Given the description of an element on the screen output the (x, y) to click on. 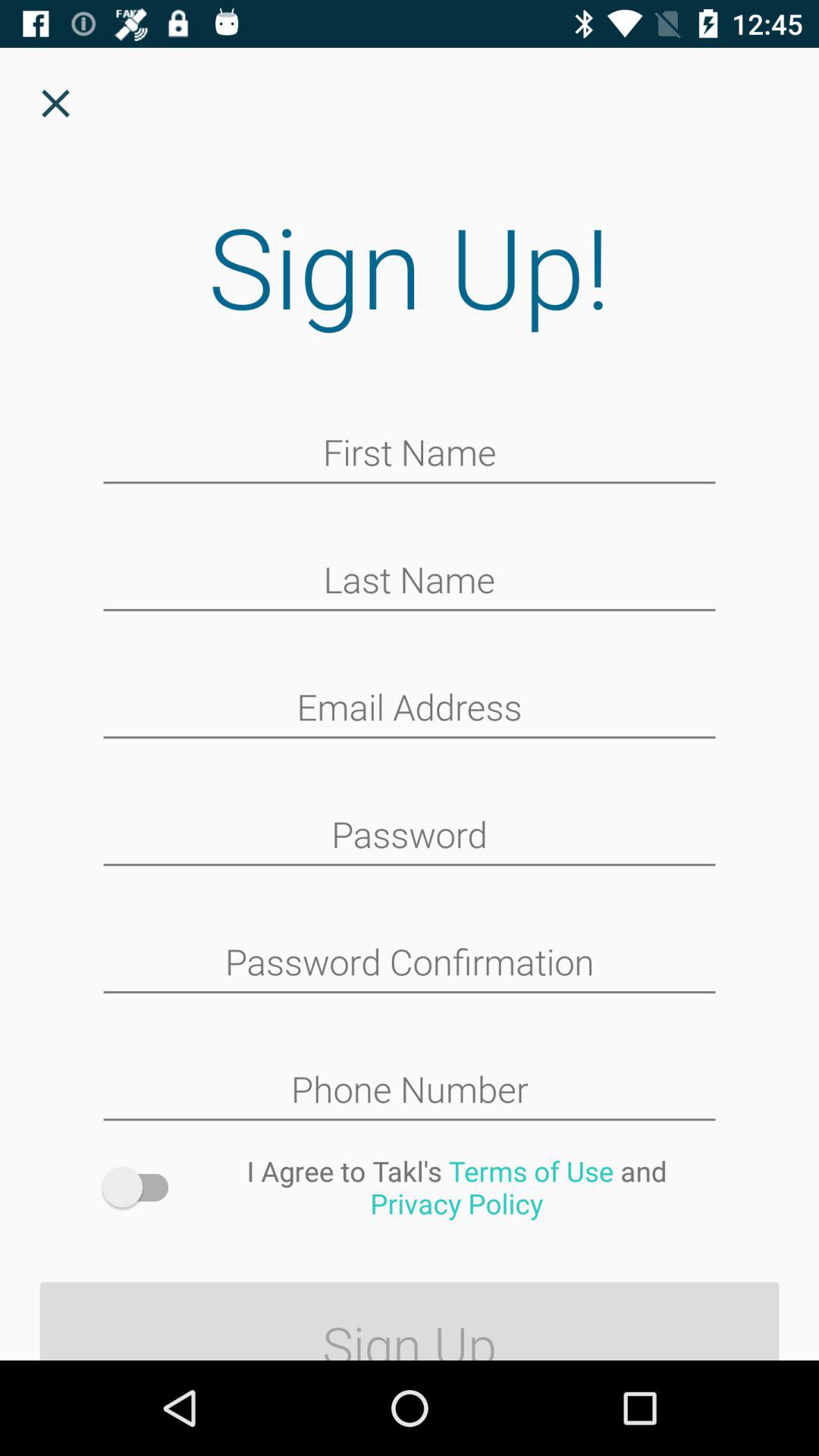
protection (409, 836)
